Given the description of an element on the screen output the (x, y) to click on. 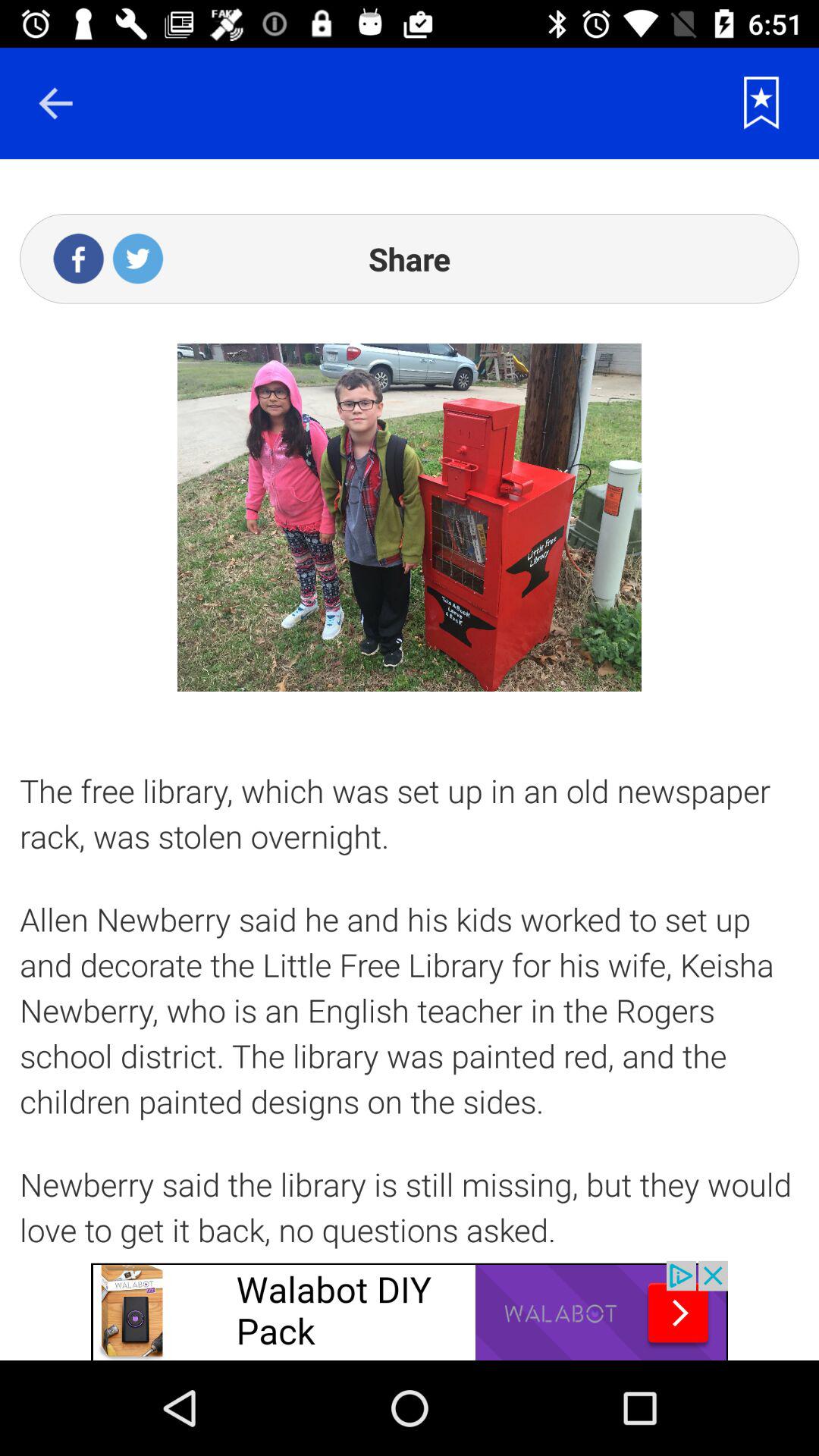
advertisement (409, 1310)
